Given the description of an element on the screen output the (x, y) to click on. 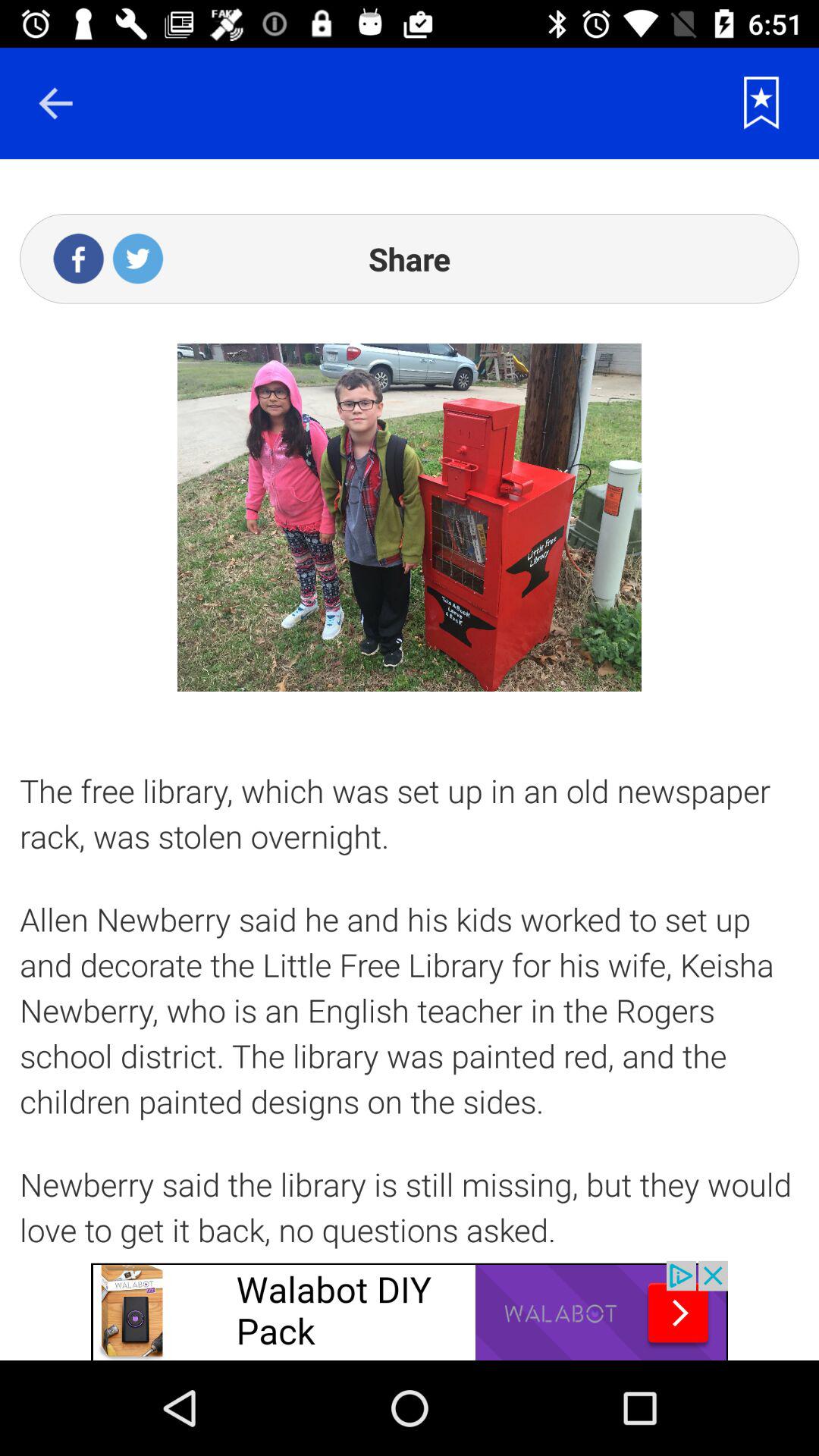
advertisement (409, 1310)
